Given the description of an element on the screen output the (x, y) to click on. 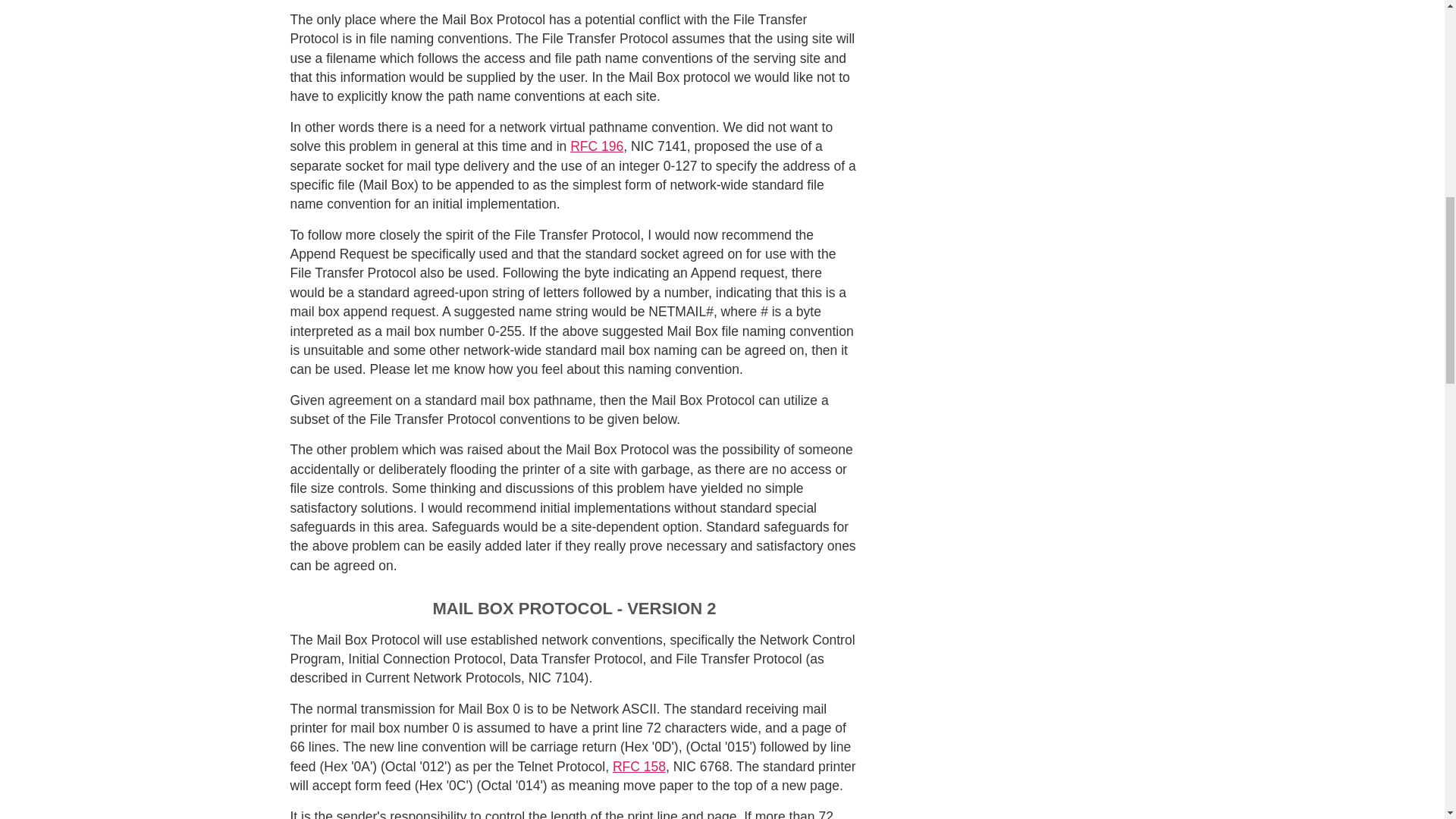
RFC 196 (596, 145)
RFC 158 (638, 766)
